Given the description of an element on the screen output the (x, y) to click on. 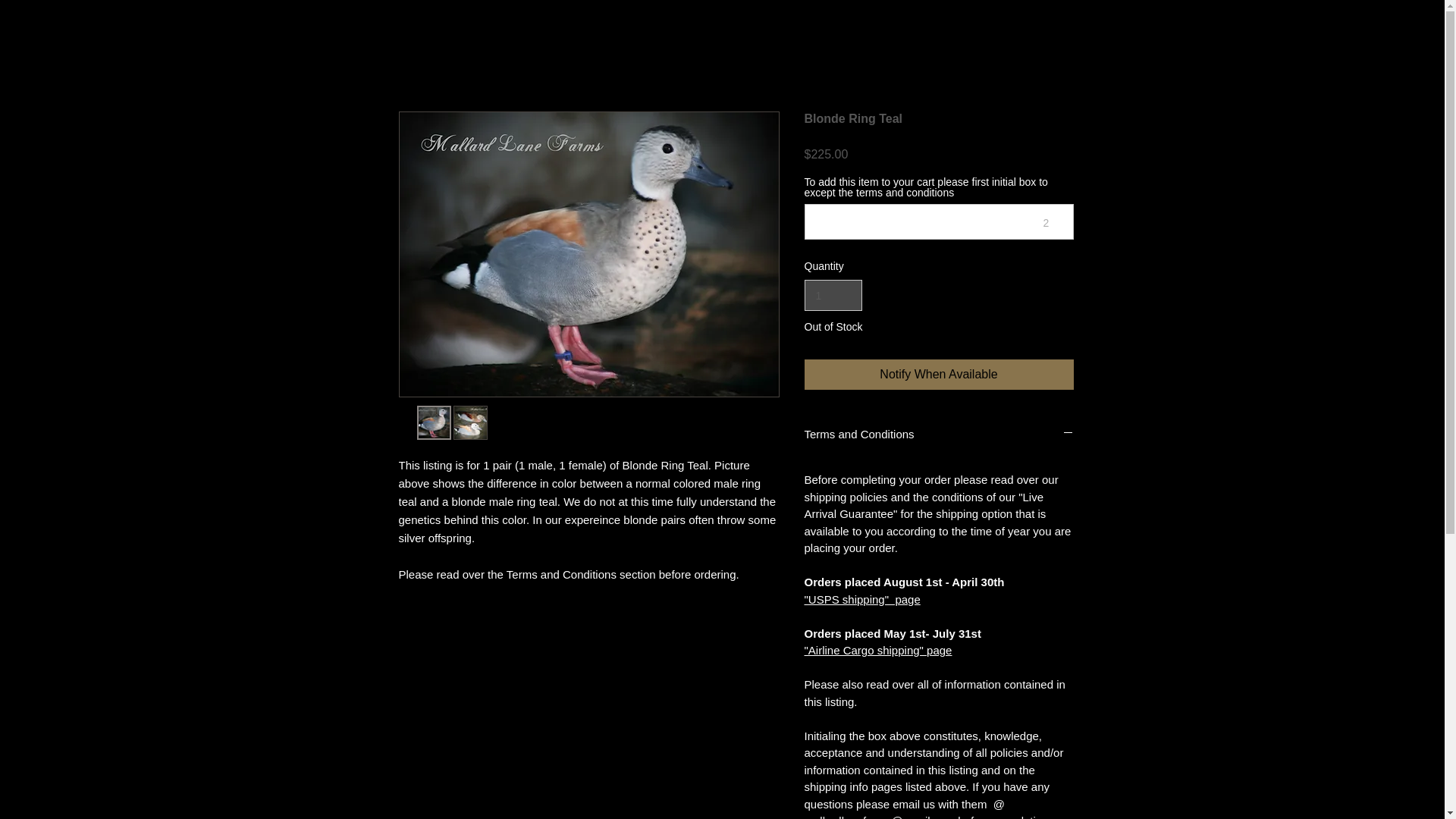
Notify When Available (938, 374)
Terms and Conditions (938, 433)
"Airline Cargo shipping" page (877, 649)
1 (832, 295)
"USPS shipping"  page (861, 599)
